Given the description of an element on the screen output the (x, y) to click on. 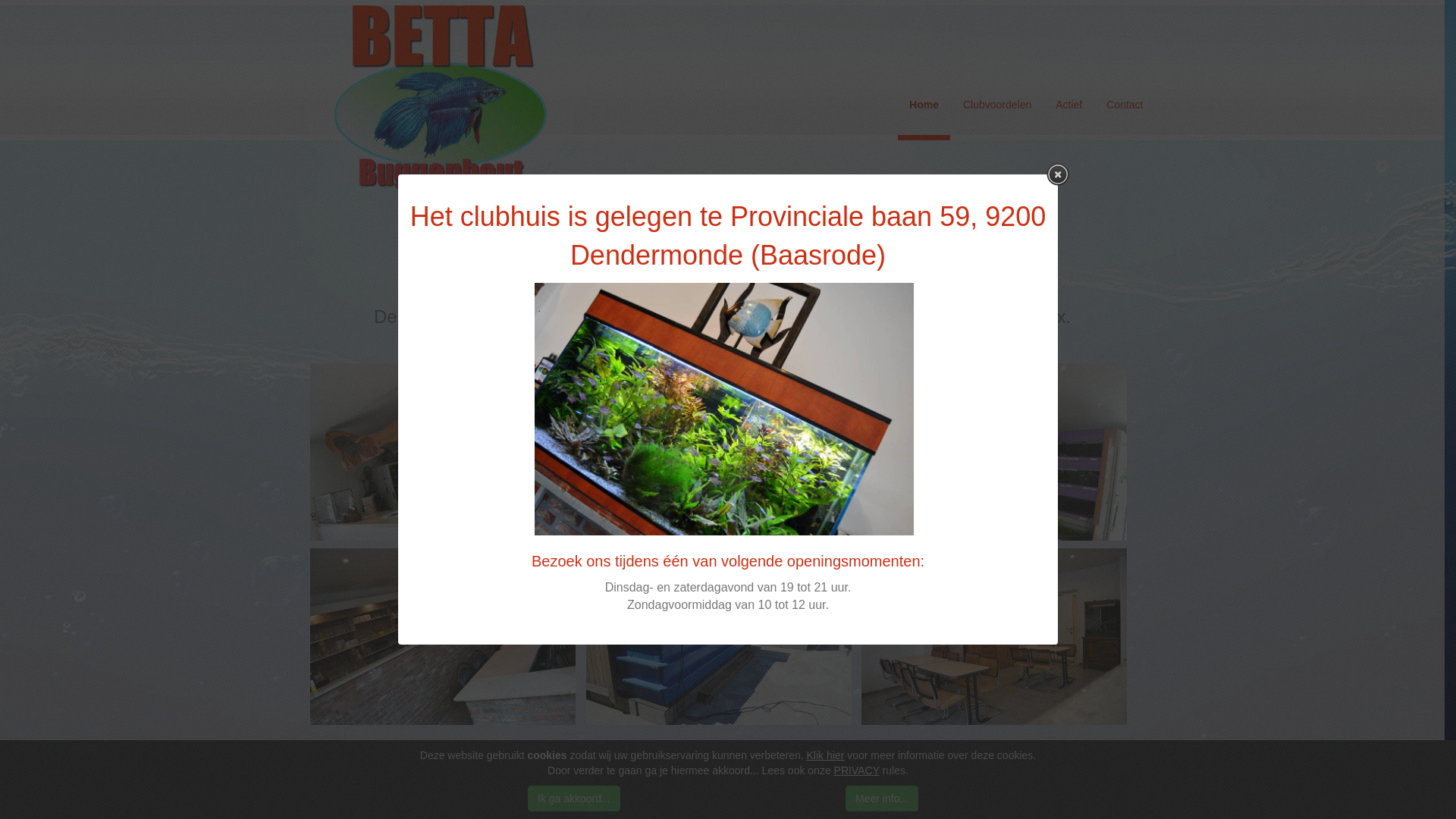
Clubvoordelen Element type: text (996, 104)
Close Element type: hover (1057, 174)
Actief Element type: text (1068, 104)
Contact Element type: text (1124, 104)
Ik ga akkoord... Element type: text (573, 798)
Home Element type: text (923, 107)
Meer info... Element type: text (881, 798)
PRIVACY Element type: text (856, 770)
Klik hier Element type: text (825, 755)
